Given the description of an element on the screen output the (x, y) to click on. 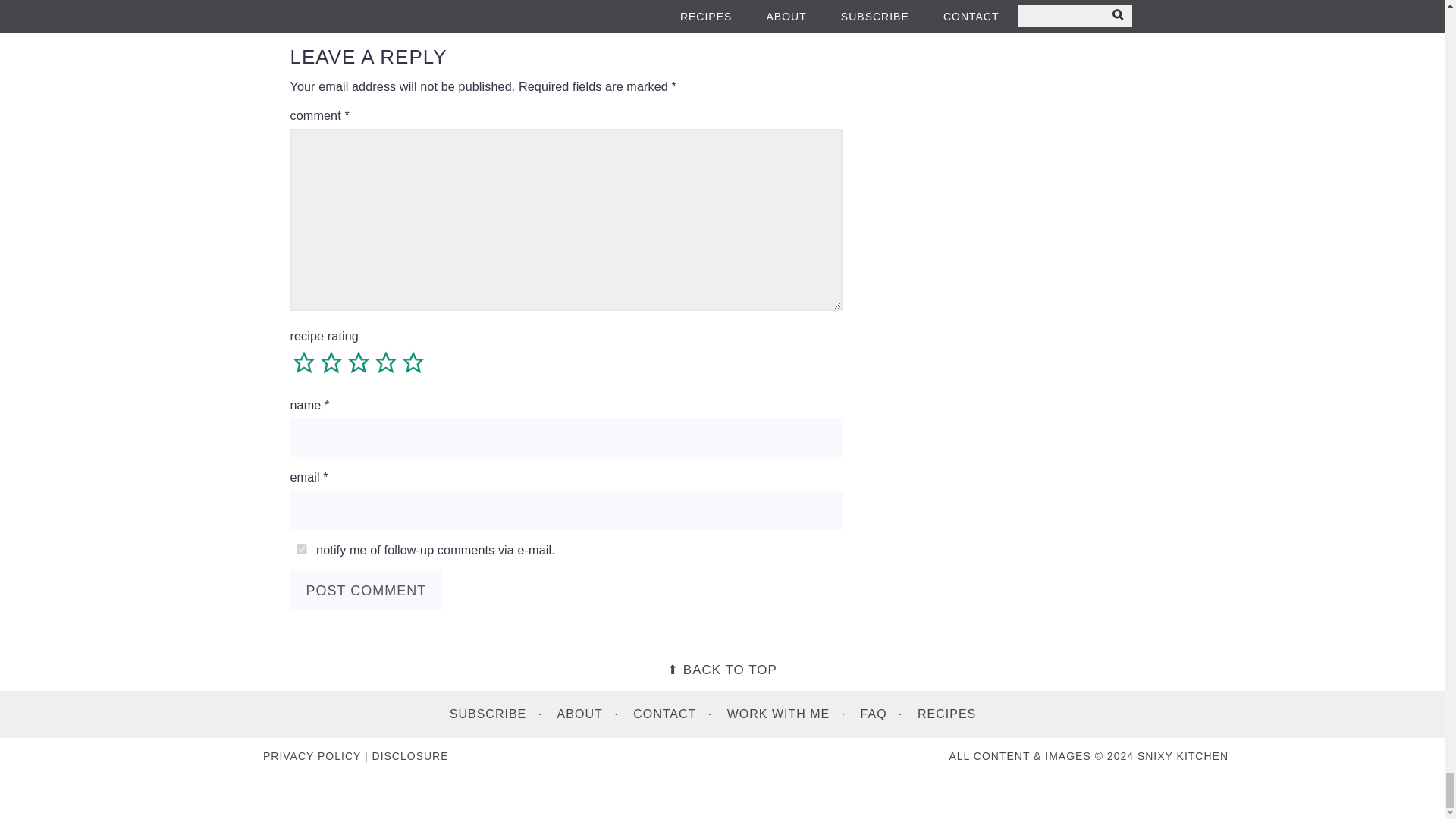
Post Comment (365, 590)
replies (301, 549)
